Given the description of an element on the screen output the (x, y) to click on. 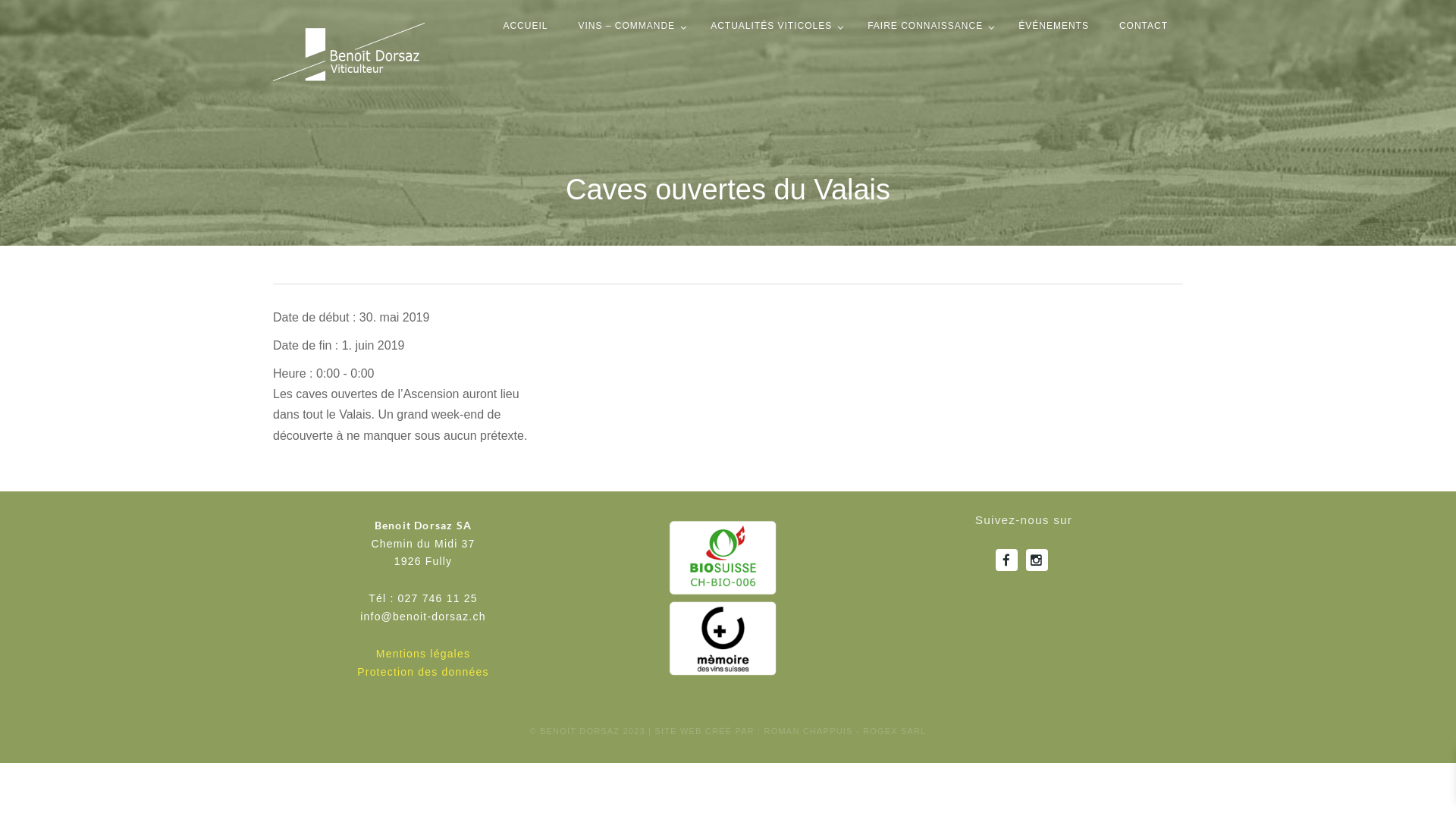
info@benoit-dorsaz.ch Element type: text (423, 616)
ACCUEIL Element type: text (524, 18)
FAIRE CONNAISSANCE Element type: text (927, 18)
CONTACT Element type: text (1143, 18)
